Given the description of an element on the screen output the (x, y) to click on. 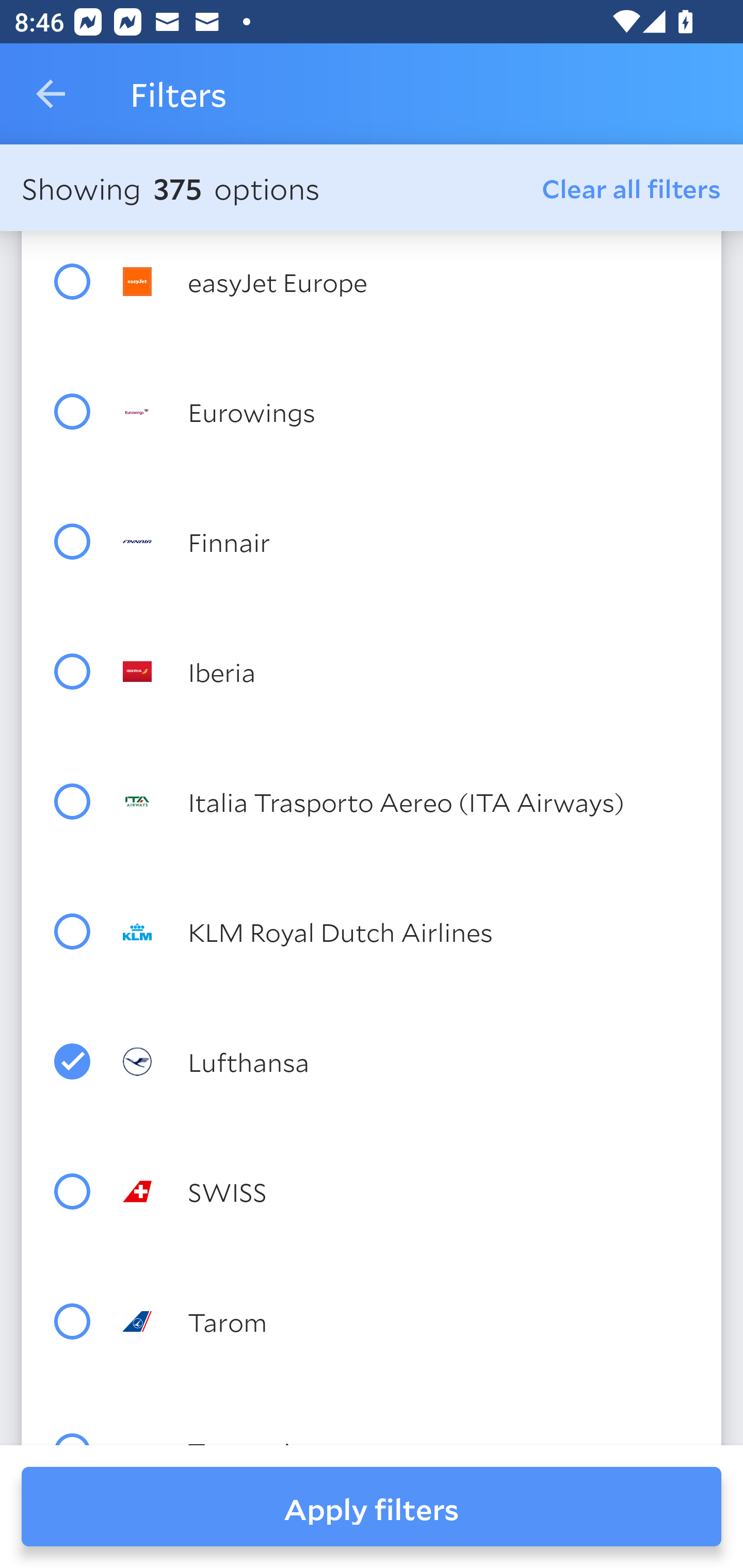
Navigate up (50, 93)
Clear all filters (631, 187)
easyJet Europe (407, 280)
Eurowings (407, 411)
Finnair (407, 541)
Iberia (407, 670)
Italia Trasporto Aereo (ITA Airways) (407, 801)
KLM Royal Dutch Airlines (407, 931)
Lufthansa (407, 1061)
SWISS (407, 1191)
Tarom (407, 1321)
Apply filters (371, 1506)
